Given the description of an element on the screen output the (x, y) to click on. 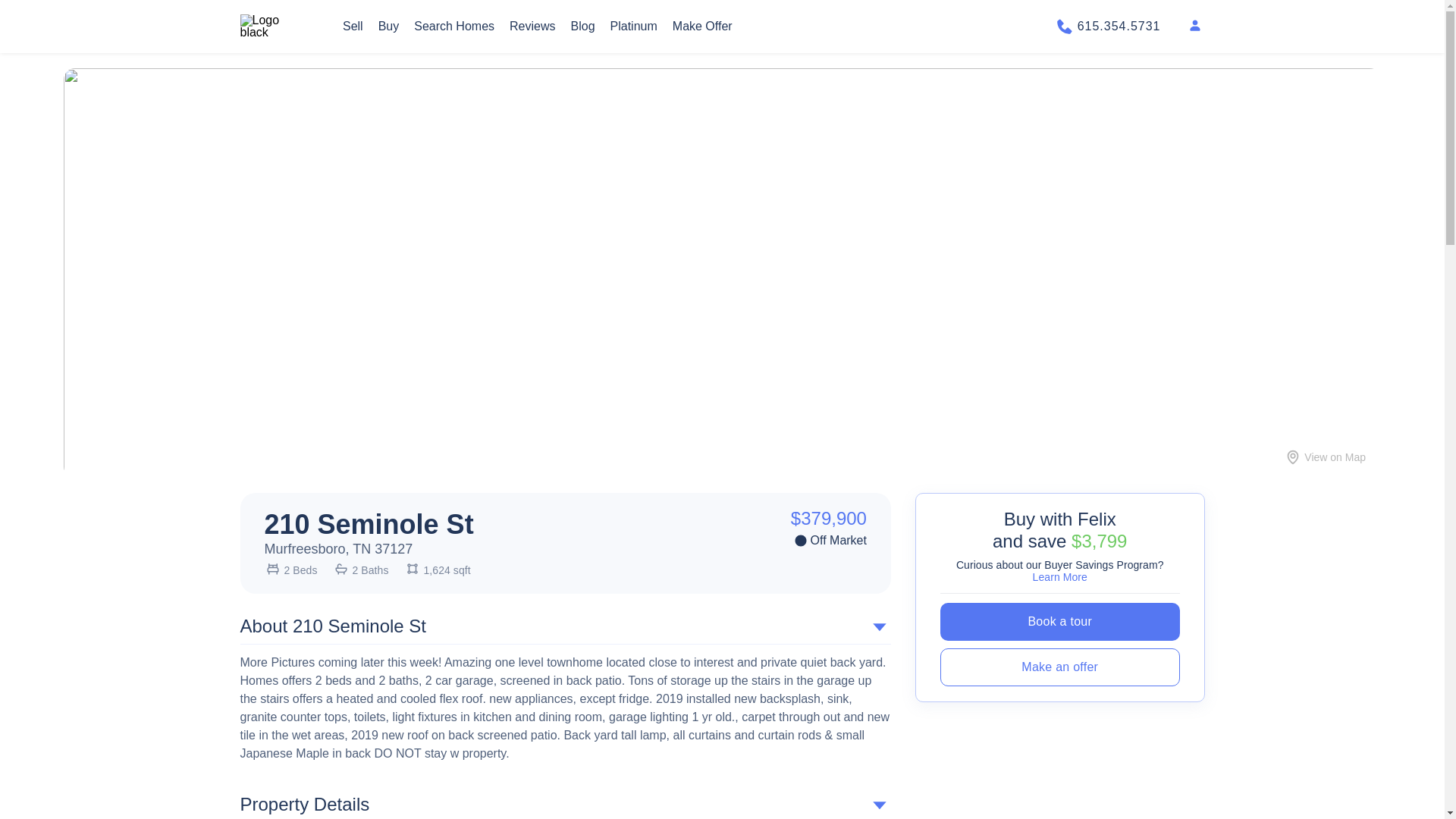
Book a tour (1059, 621)
Sell (352, 26)
Buy (388, 26)
Search Homes (454, 26)
Reviews (531, 26)
Platinum (634, 26)
Make an offer (1059, 667)
Make Offer (702, 26)
615.354.5731 (1107, 25)
Blog (582, 26)
